Given the description of an element on the screen output the (x, y) to click on. 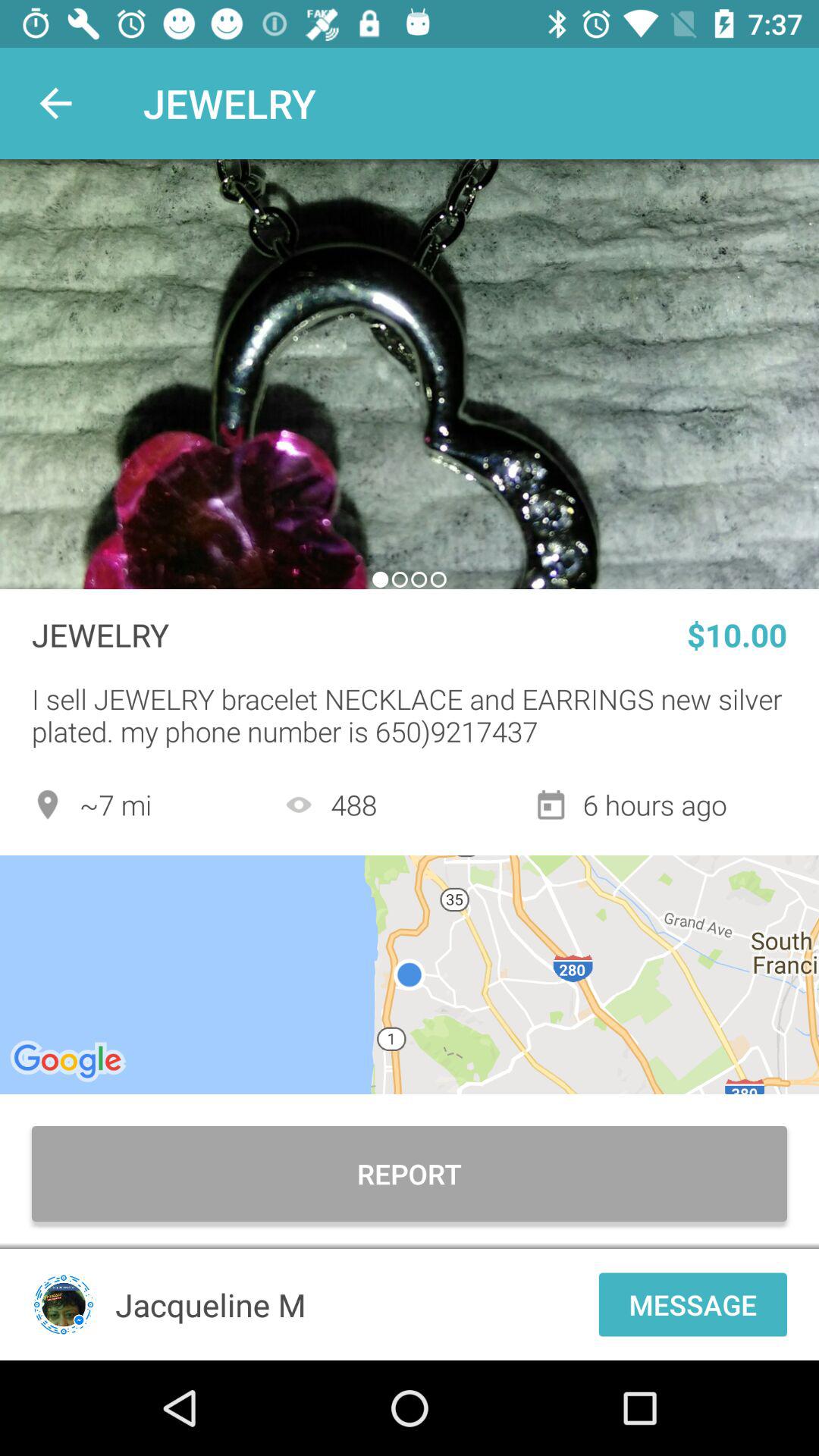
select the icon next to the jacqueline m (63, 1304)
